Given the description of an element on the screen output the (x, y) to click on. 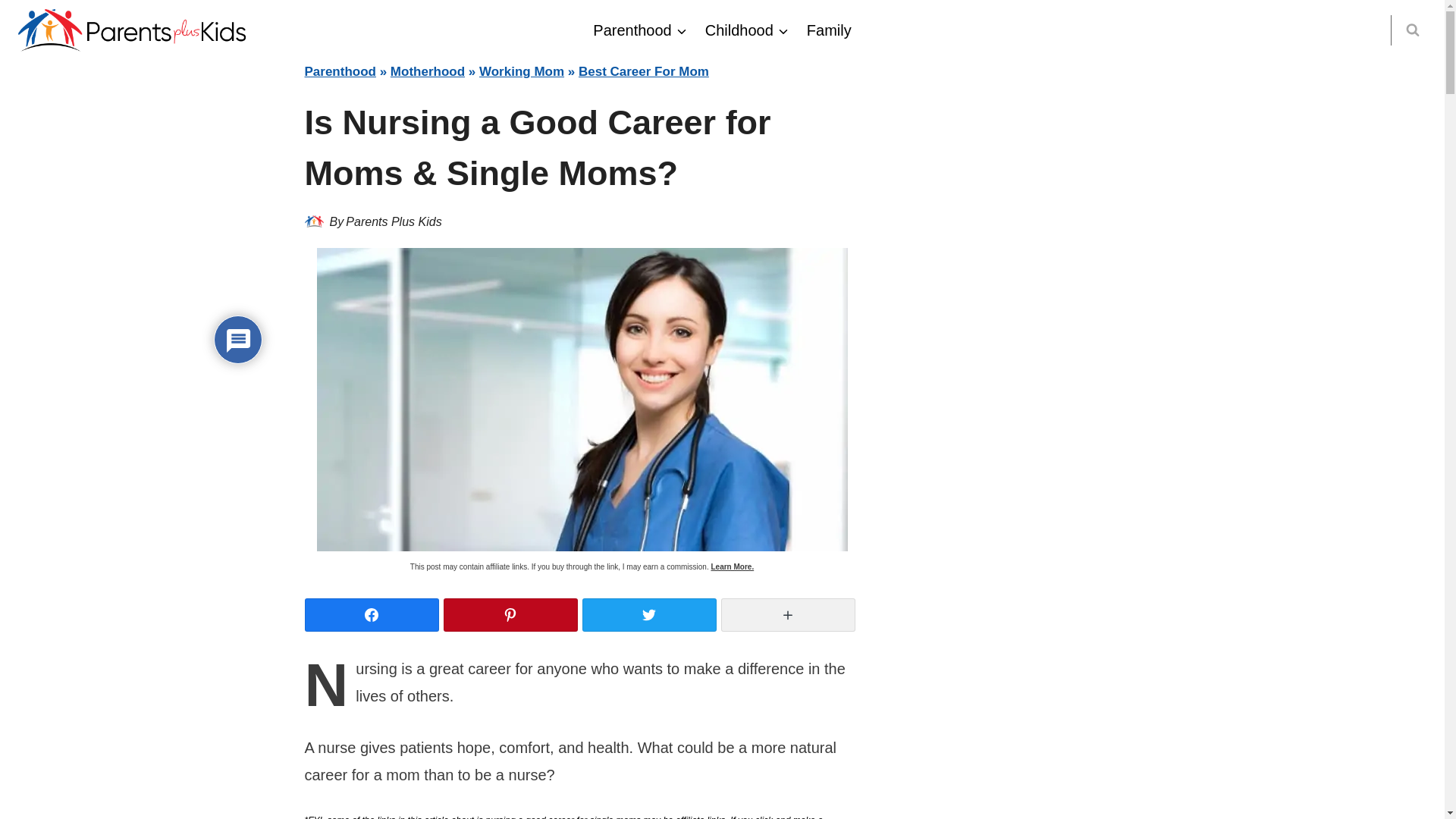
Best Career For Mom (643, 71)
Learn More. (732, 566)
Parenthood (339, 71)
Working Mom (521, 71)
Childhood (746, 30)
Family (828, 30)
Parenthood (639, 30)
Motherhood (427, 71)
